Given the description of an element on the screen output the (x, y) to click on. 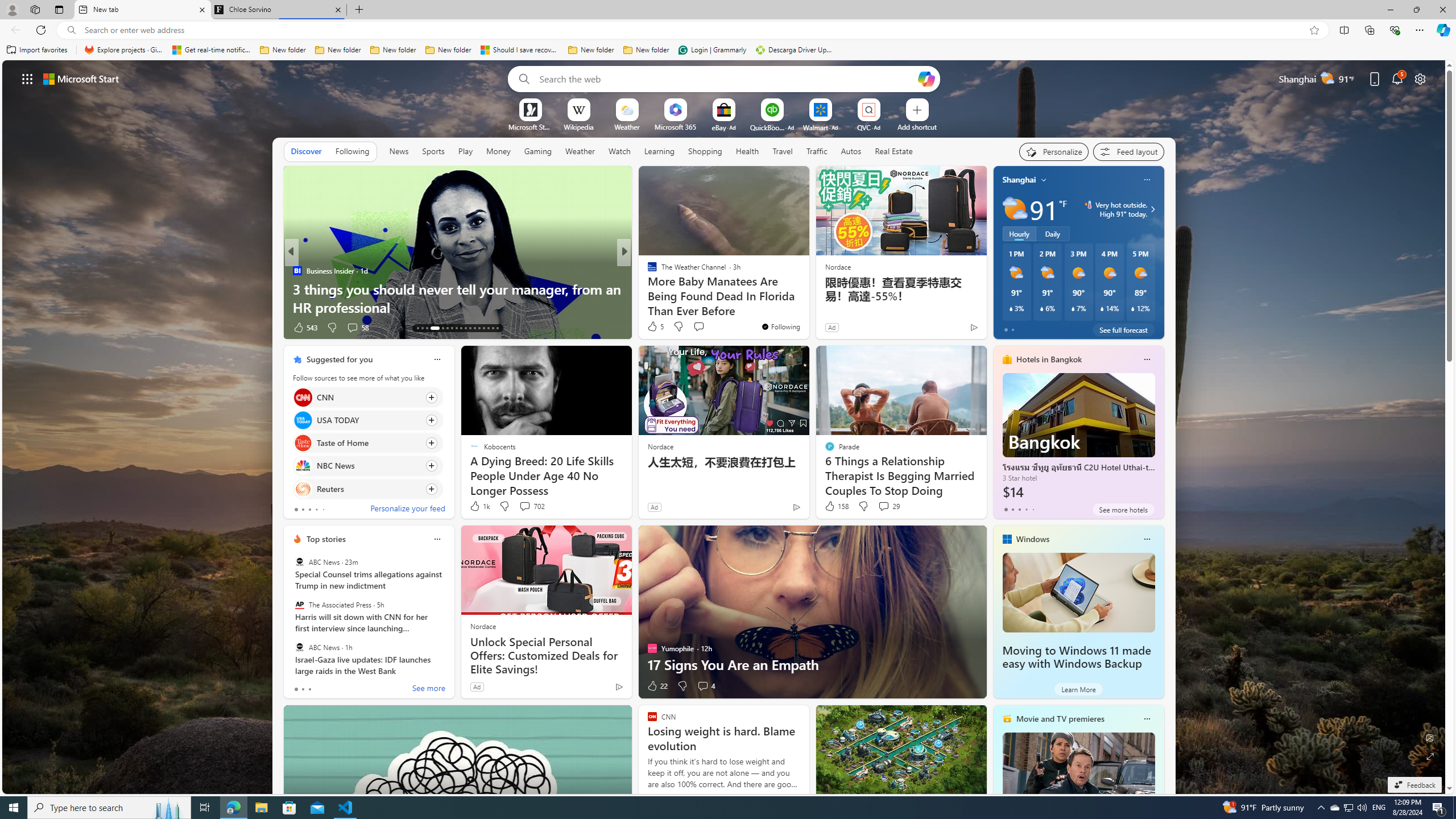
AutomationID: tab-22 (465, 328)
Shopping (705, 151)
AutomationID: tab-39 (483, 328)
Favorites bar (728, 49)
SlashGear (647, 270)
Page settings (1420, 78)
AutomationID: tab-41 (492, 328)
ETNT Mind+Body (647, 270)
View comments 25 Comment (698, 327)
